Given the description of an element on the screen output the (x, y) to click on. 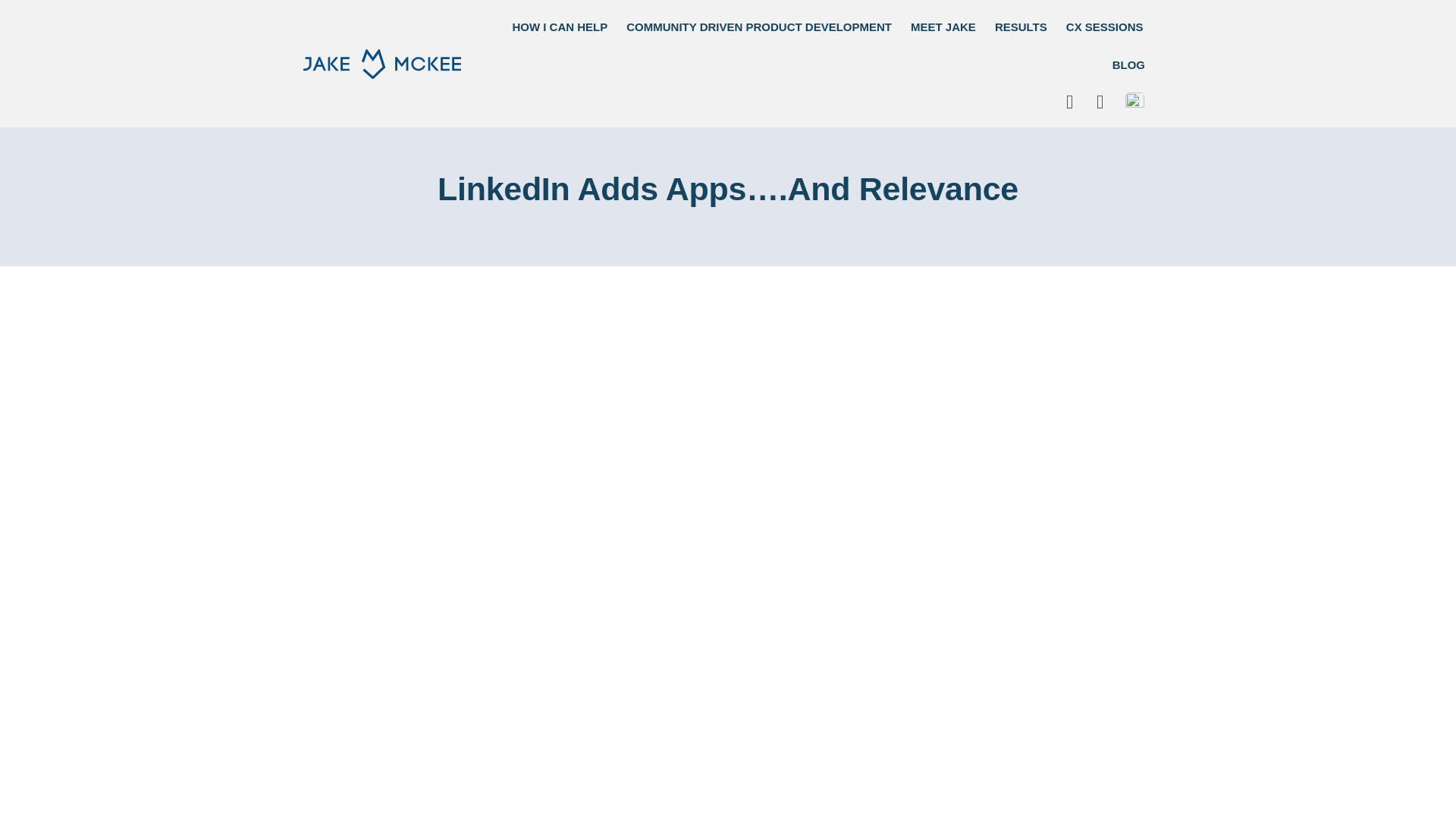
MEET JAKE (943, 26)
CX SESSIONS (1104, 26)
BLOG (1129, 64)
BLOG (1129, 64)
COMMUNITY DRIVEN PRODUCT DEVELOPMENT (758, 26)
RESULTS (1020, 26)
HOW I CAN HELP (558, 26)
